Given the description of an element on the screen output the (x, y) to click on. 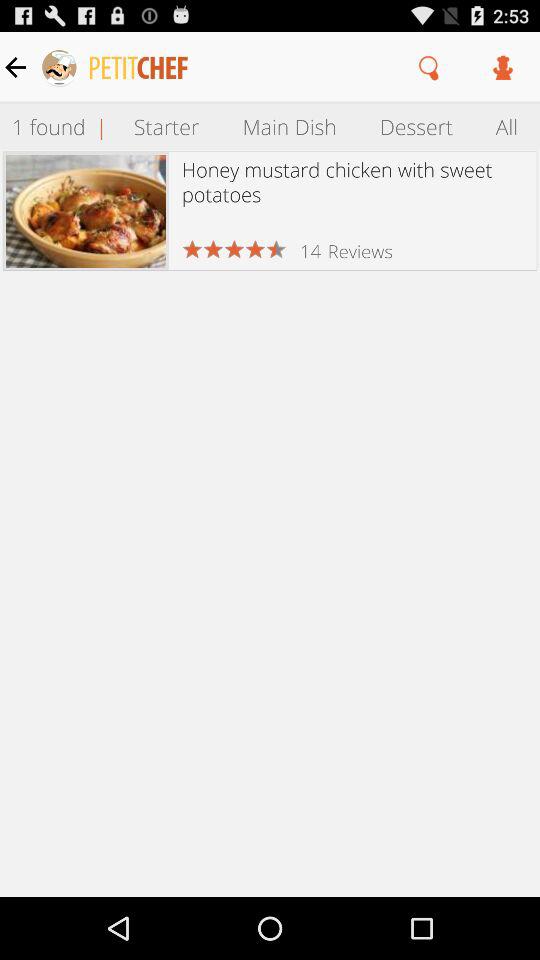
turn off the icon next to the all (416, 126)
